Given the description of an element on the screen output the (x, y) to click on. 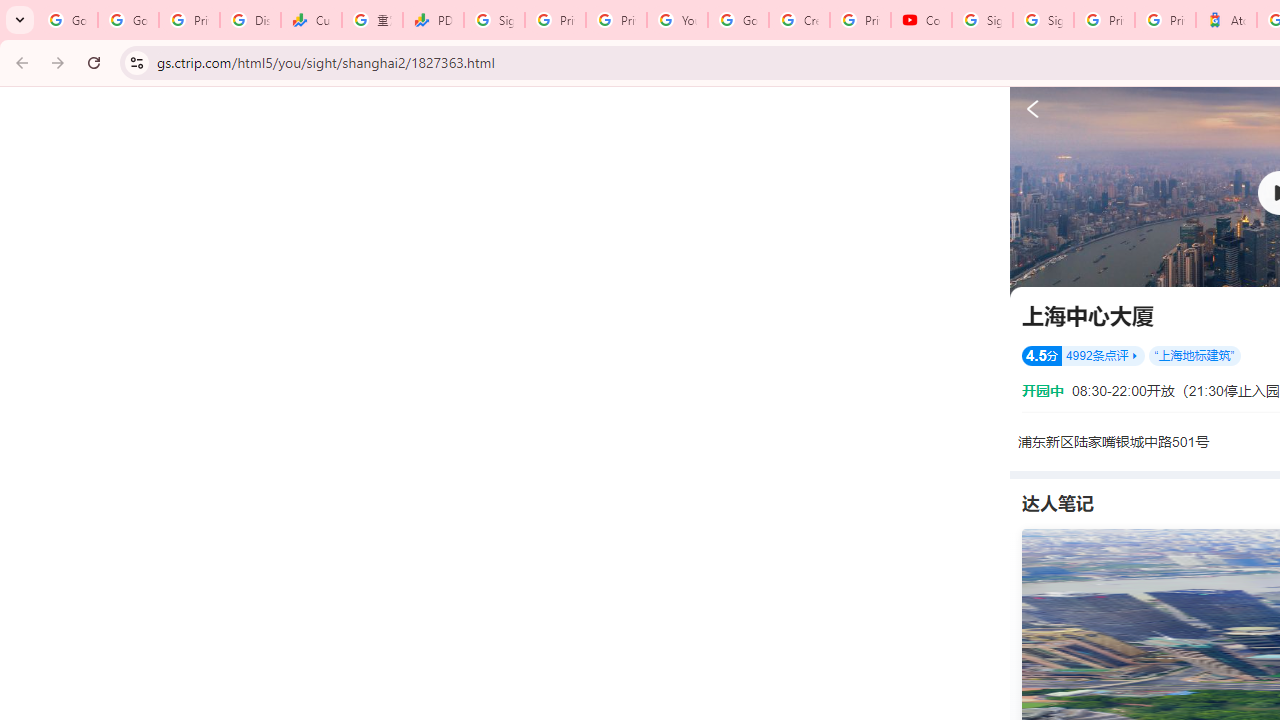
Search tabs (20, 20)
Atour Hotel - Google hotels (1225, 20)
Forward (57, 62)
YouTube (676, 20)
Back (19, 62)
Currencies - Google Finance (310, 20)
Privacy Checkup (616, 20)
PDD Holdings Inc - ADR (PDD) Price & News - Google Finance (433, 20)
Create your Google Account (799, 20)
Google Workspace Admin Community (67, 20)
